Given the description of an element on the screen output the (x, y) to click on. 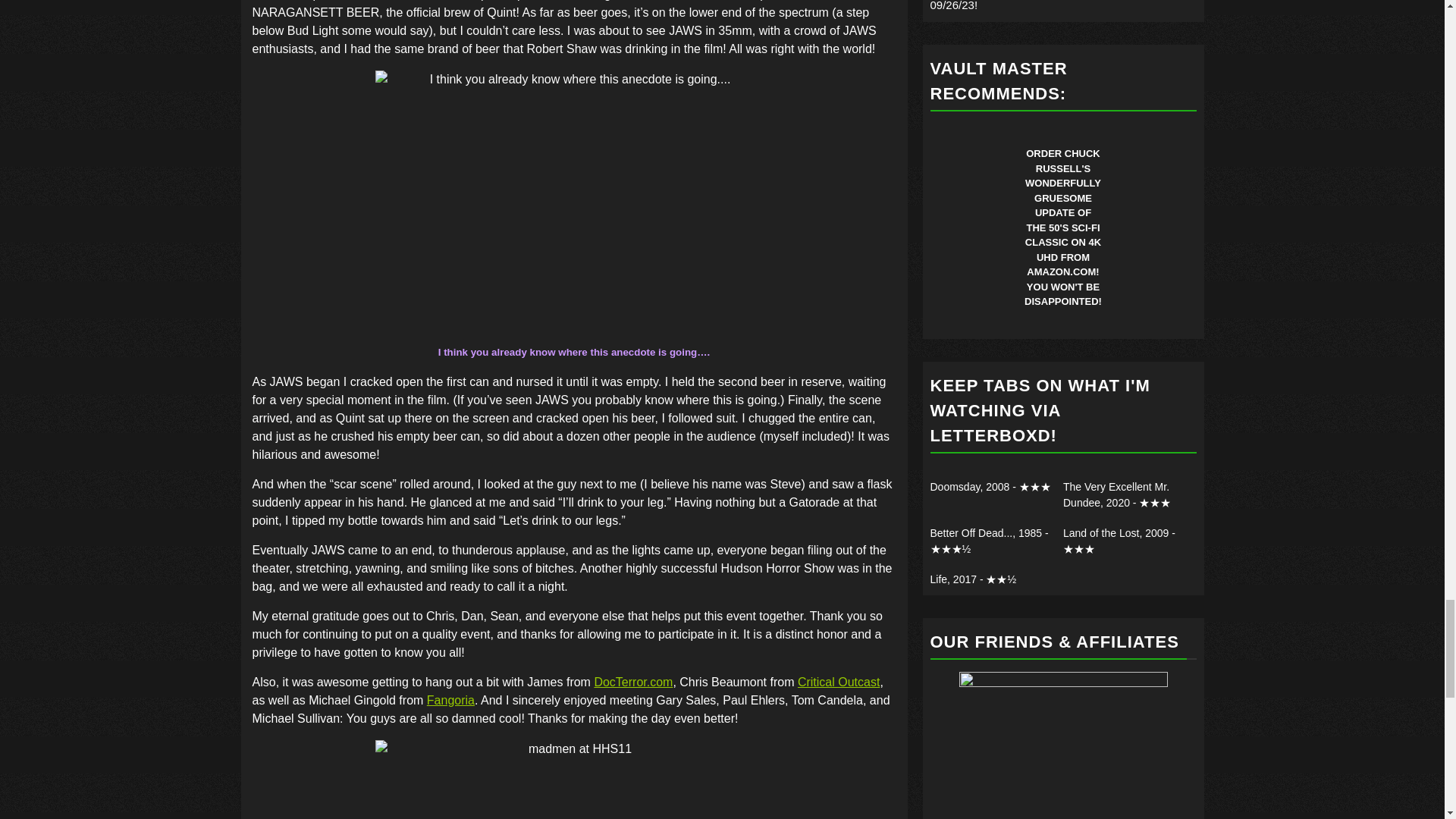
Critical Outcast (838, 681)
Fangoria (450, 699)
DocTerror.com (633, 681)
